Given the description of an element on the screen output the (x, y) to click on. 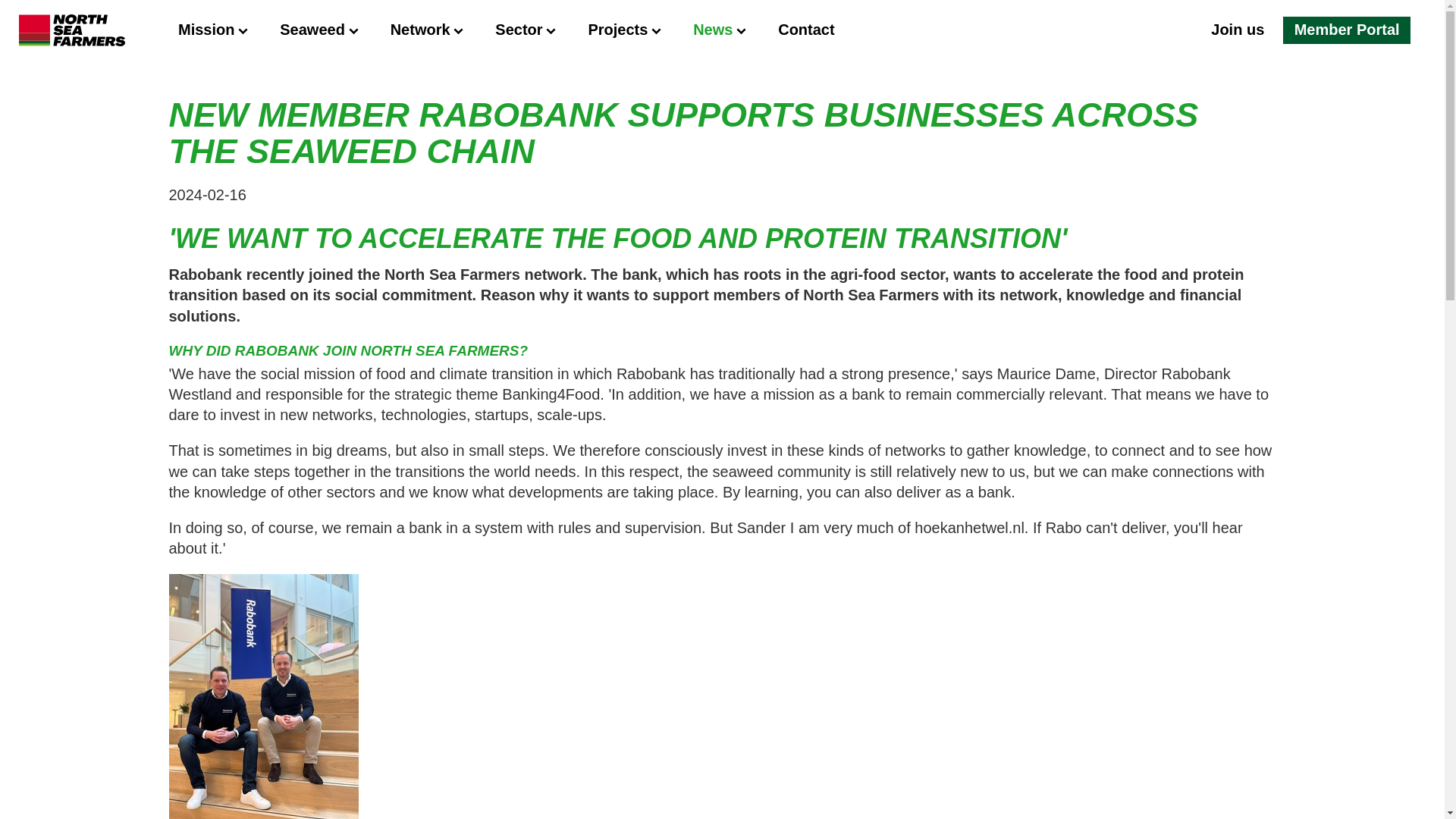
Projects (625, 29)
Network (427, 29)
Sector (526, 29)
Join us (1237, 29)
Network (427, 29)
Member Portal (1346, 29)
Seaweed (319, 29)
Join us (1237, 29)
Mission (212, 29)
Member Portal (1346, 29)
News (720, 29)
Contact (805, 29)
